Given the description of an element on the screen output the (x, y) to click on. 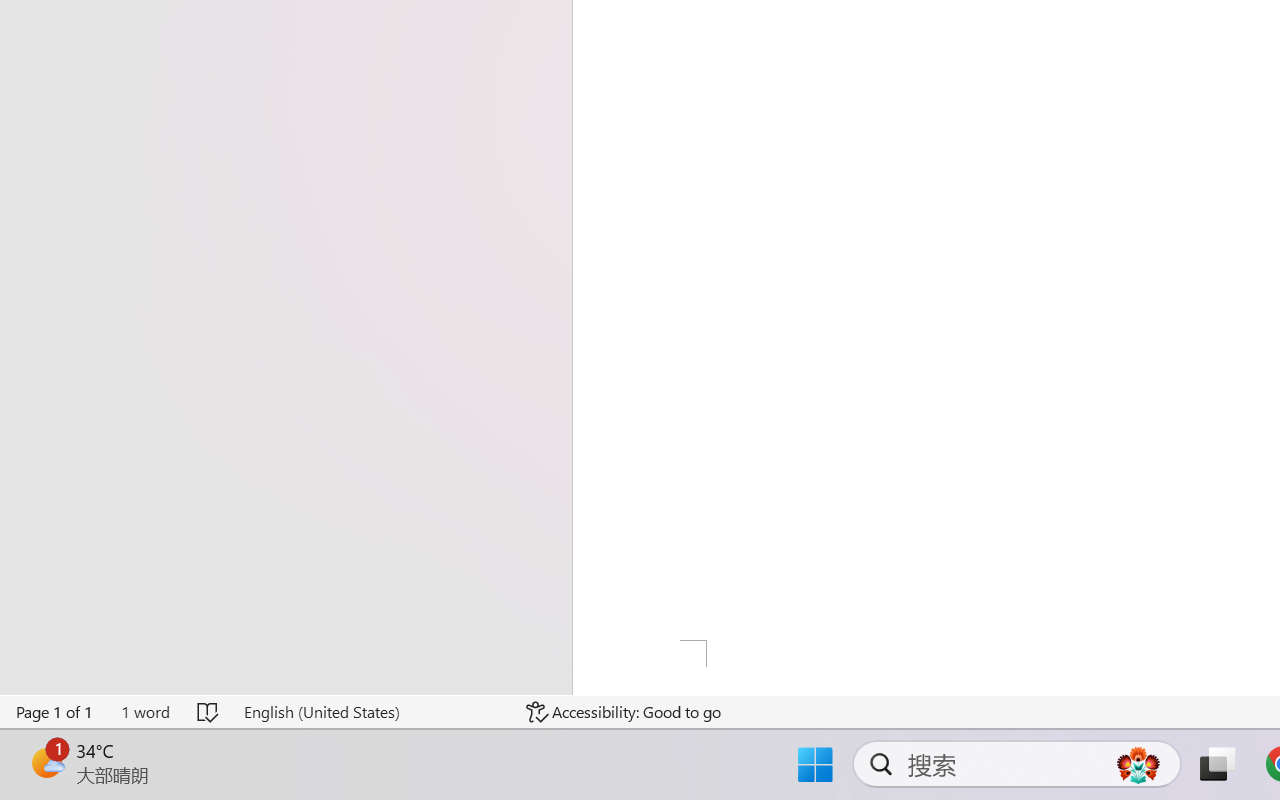
AutomationID: DynamicSearchBoxGleamImage (1138, 764)
Word Count 1 word (145, 712)
AutomationID: BadgeAnchorLargeTicker (46, 762)
Spelling and Grammar Check No Errors (208, 712)
Language English (United States) (370, 712)
Accessibility Checker Accessibility: Good to go (623, 712)
Page Number Page 1 of 1 (55, 712)
